Given the description of an element on the screen output the (x, y) to click on. 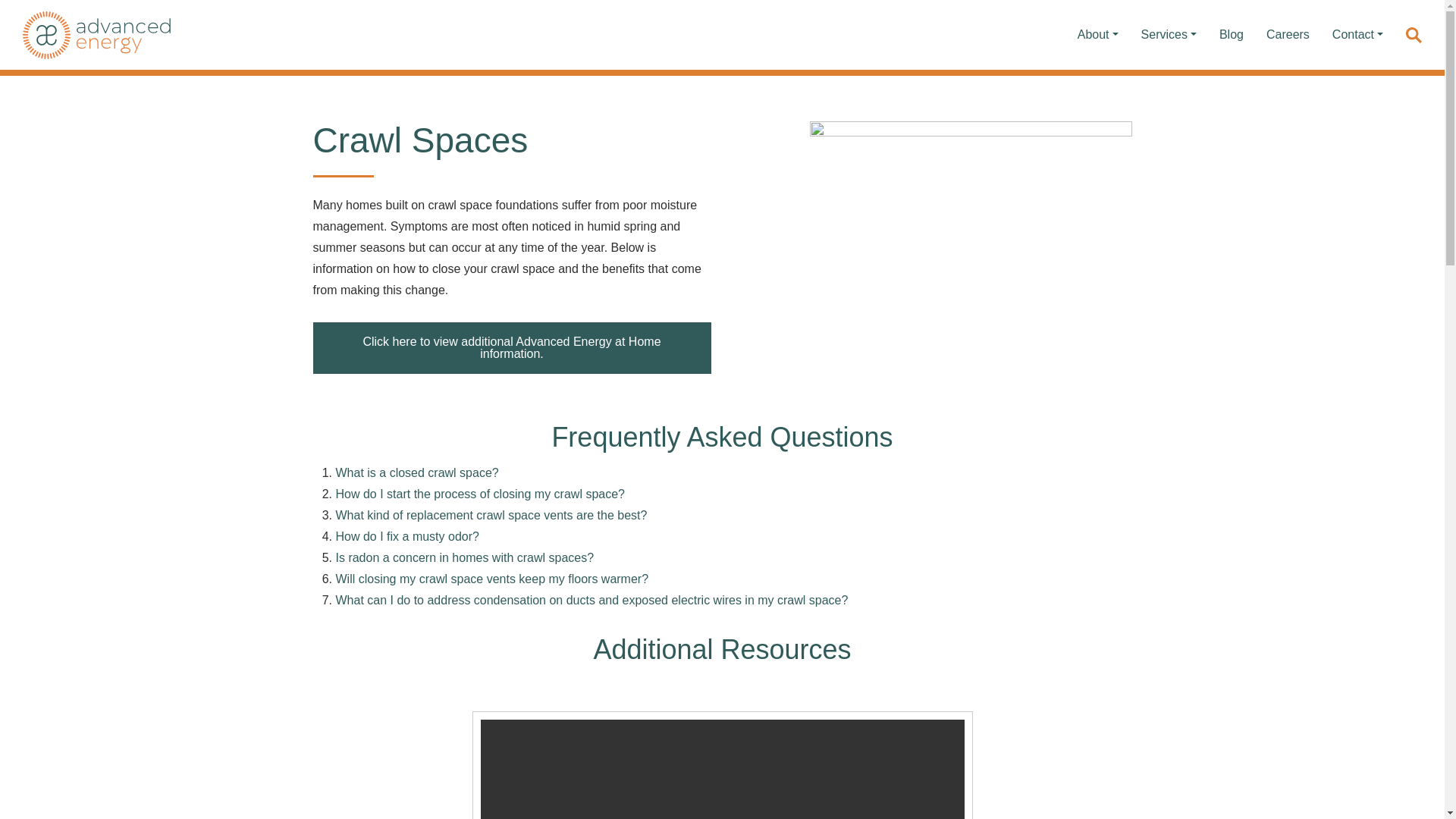
How do I fix a musty odor? (406, 535)
Will closing my crawl space vents keep my floors warmer? (490, 578)
What is a closed crawl space? (415, 472)
How do I start the process of closing my crawl space? (479, 493)
What kind of replacement crawl space vents are the best? (490, 514)
homepage (96, 34)
Is radon a concern in homes with crawl spaces? (464, 557)
